Given the description of an element on the screen output the (x, y) to click on. 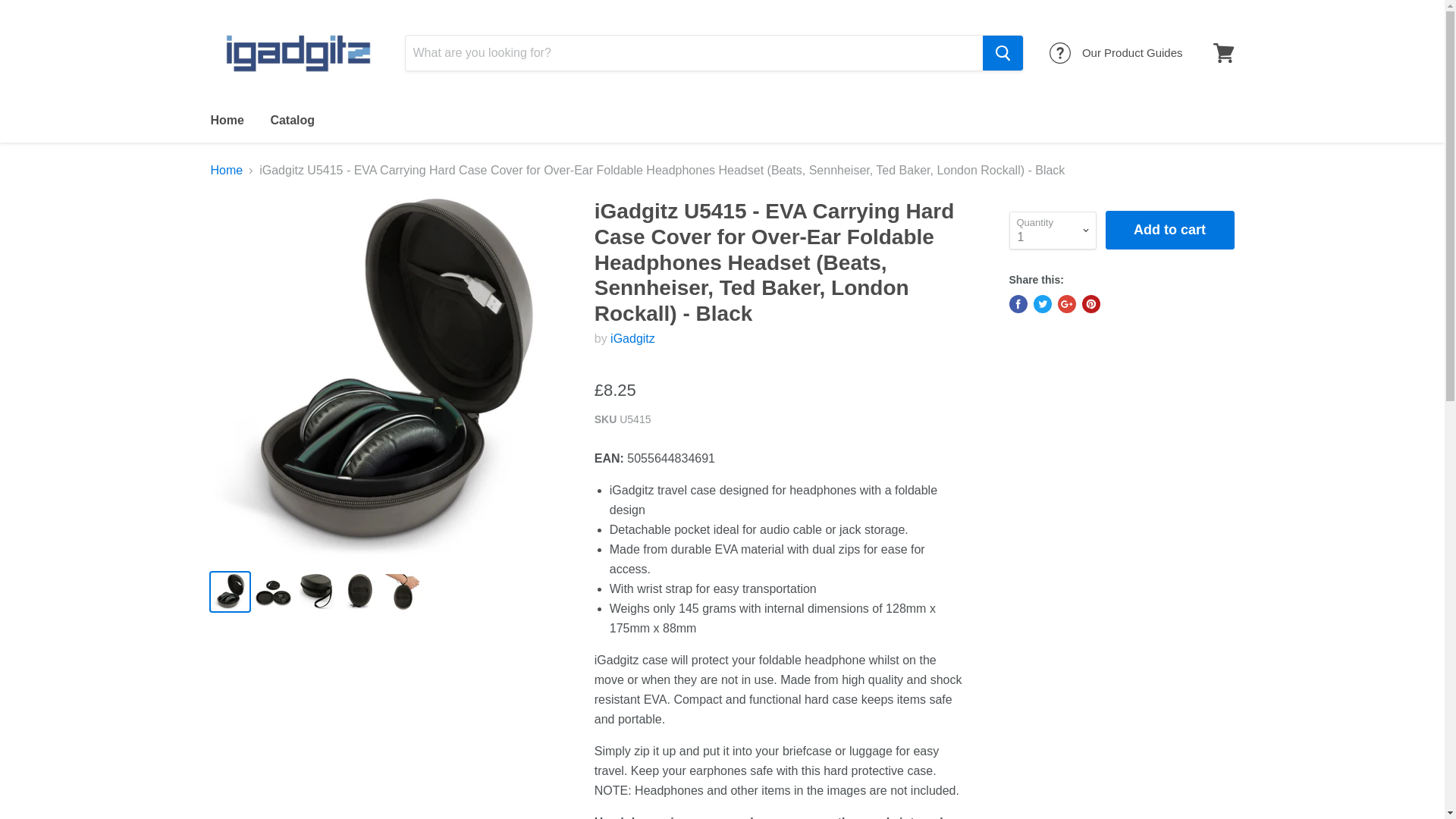
iGadgitz (632, 338)
Our Product Guides (1115, 52)
Home (226, 120)
Pin on Pinterest (1090, 303)
Home (227, 170)
iGadgitz (632, 338)
Catalog (292, 120)
View cart (1223, 53)
Tweet on Twitter (1041, 303)
Share on Facebook (1017, 303)
Add to cart (1169, 229)
